Given the description of an element on the screen output the (x, y) to click on. 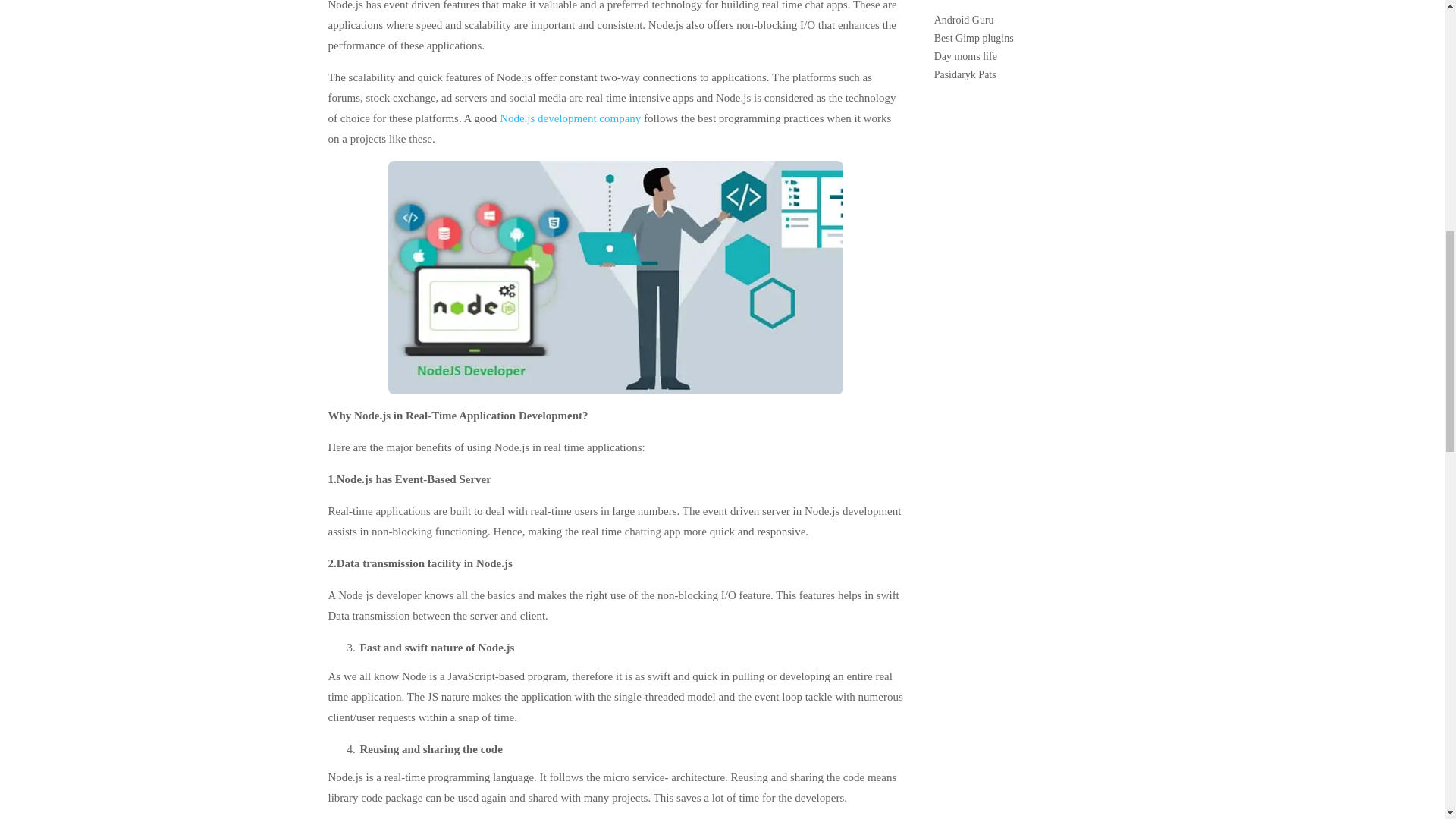
Android tips and tricks (1055, 20)
Node.js development company (569, 118)
Day moms life (1055, 56)
